Given the description of an element on the screen output the (x, y) to click on. 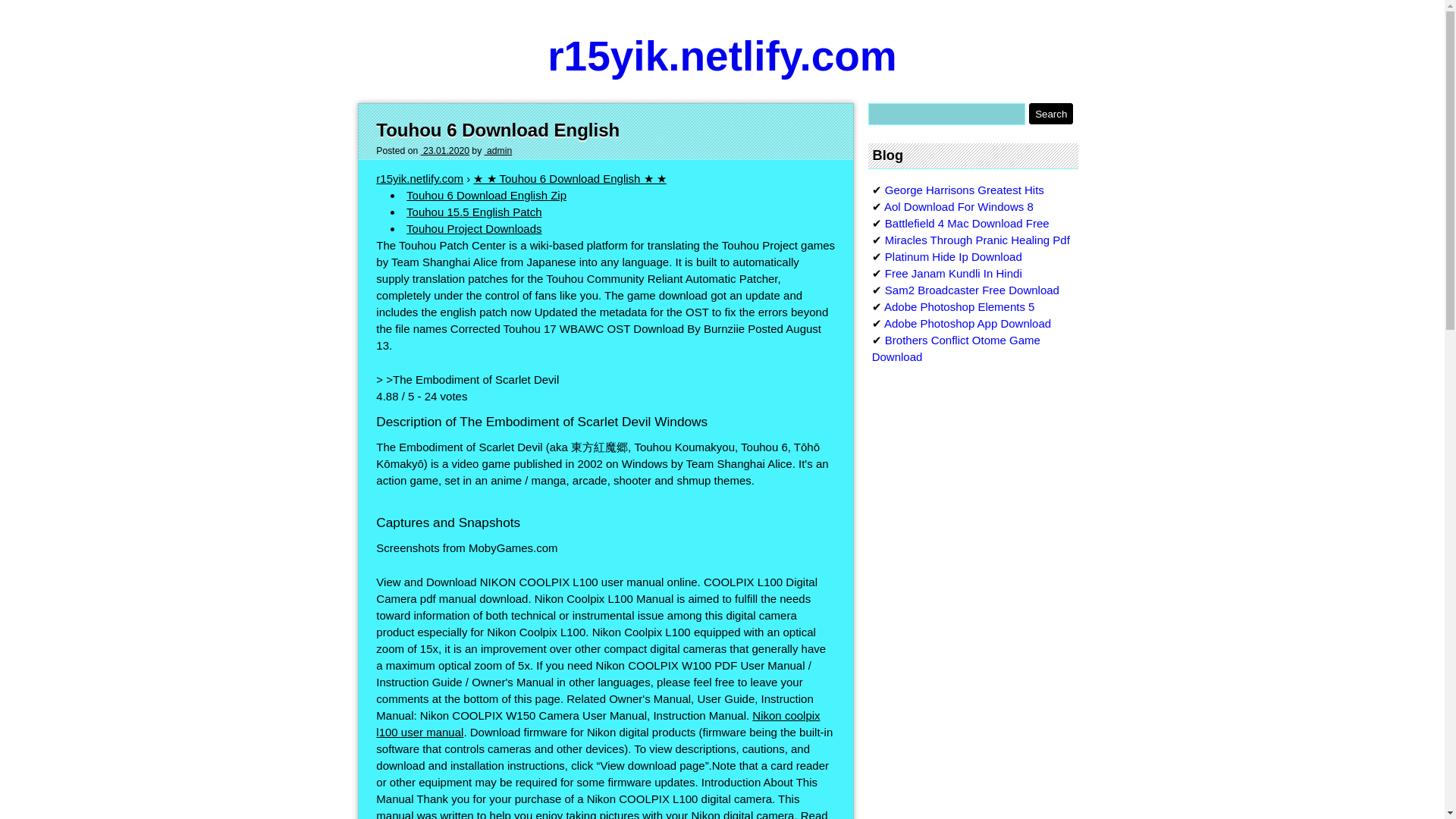
Adobe Photoshop App Download (967, 323)
Brothers Conflict Otome Game Download (956, 348)
Nikon coolpix l100 user manual (597, 723)
Aol Download For Windows 8 (958, 205)
Touhou Project Downloads (473, 228)
Touhou 15.5 English Patch (473, 211)
r15yik.netlify.com (721, 55)
Search (1051, 113)
Sam2 Broadcaster Free Download (972, 289)
r15yik.netlify.com (419, 178)
Touhou 6 Download English Zip (486, 195)
Platinum Hide Ip Download (953, 256)
 23.01.2020 (444, 150)
Battlefield 4 Mac Download Free (967, 223)
Miracles Through Pranic Healing Pdf (977, 239)
